Given the description of an element on the screen output the (x, y) to click on. 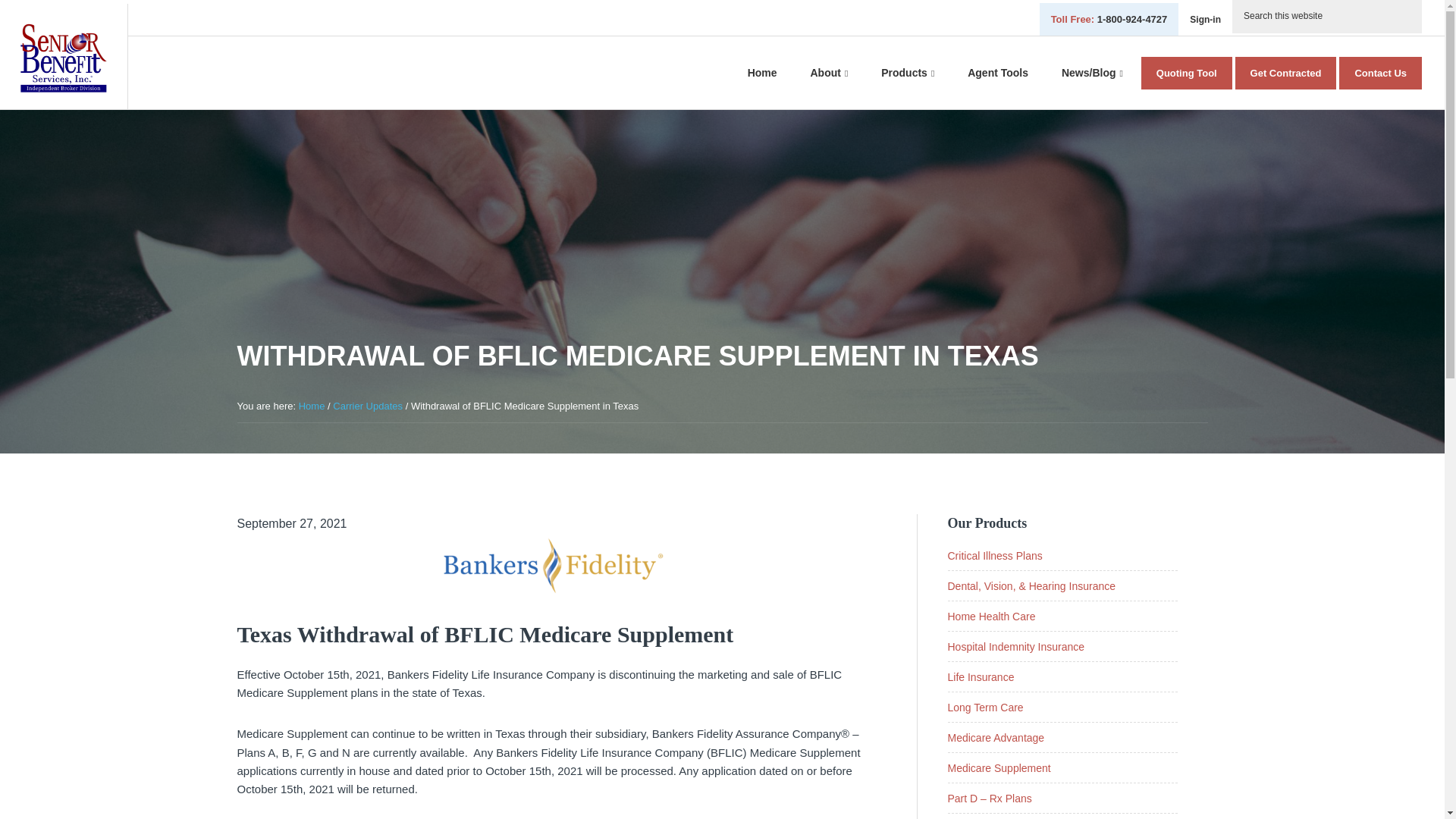
Sign-in (1204, 20)
Toll Free: 1-800-924-4727 (1109, 19)
Products (907, 72)
Home (762, 72)
Agent Tools (997, 72)
About (828, 72)
Quoting Tool (1186, 72)
Senior Benefit Services, Inc (62, 57)
sign-in (1204, 20)
